Given the description of an element on the screen output the (x, y) to click on. 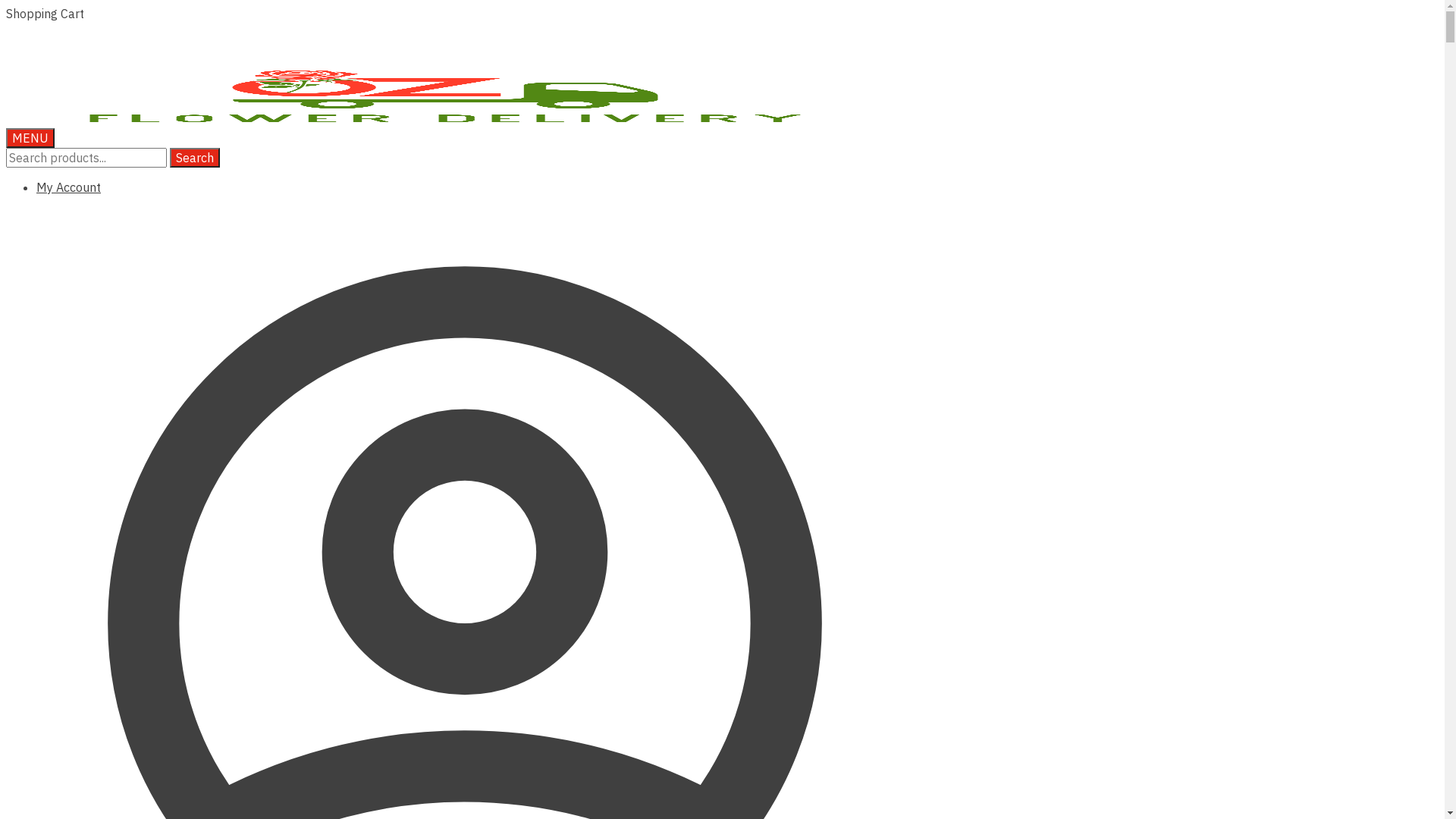
Search Element type: text (194, 157)
MENU Element type: text (30, 137)
Skip to navigation Element type: text (5, 5)
